Given the description of an element on the screen output the (x, y) to click on. 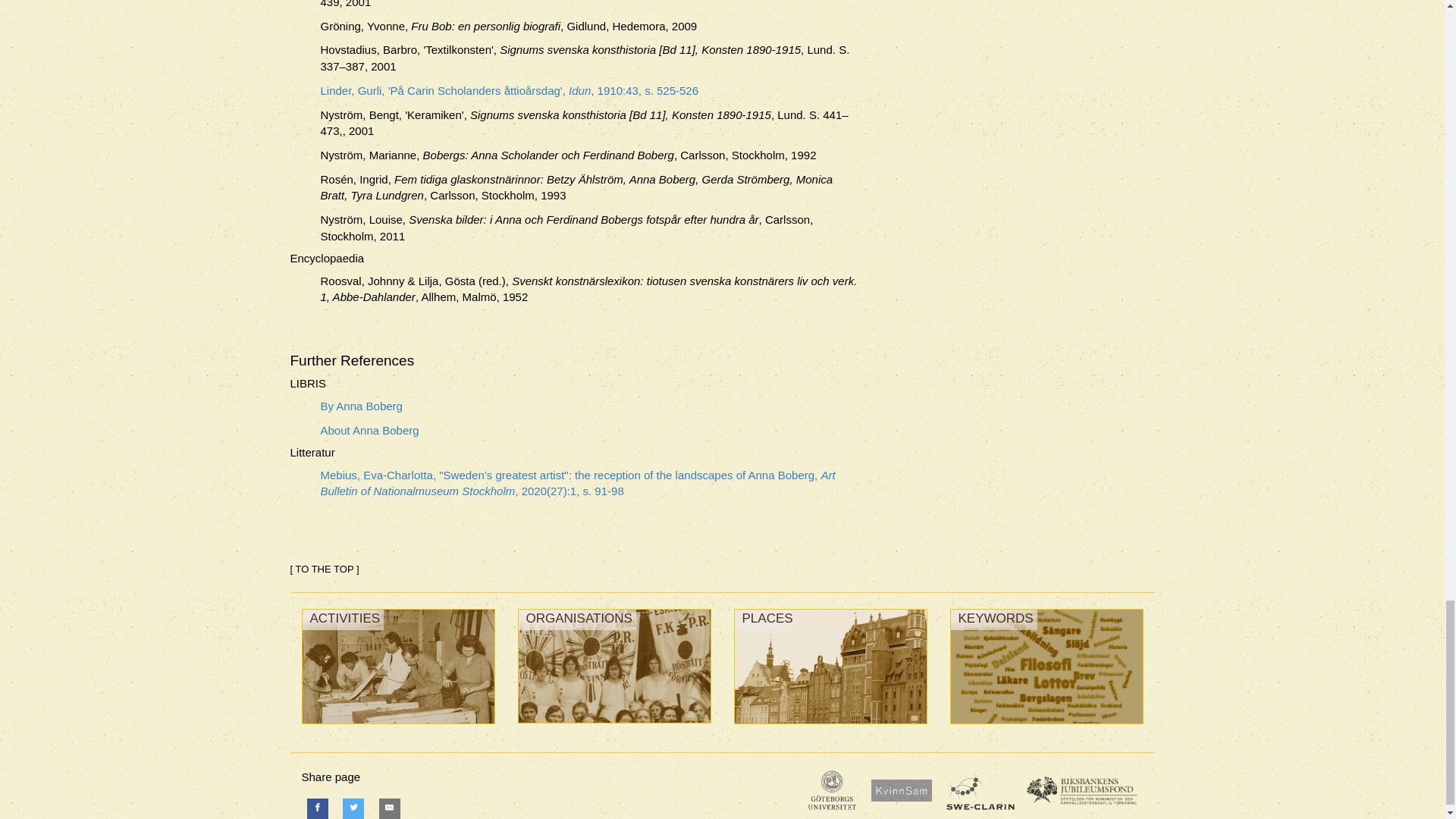
PLACES (830, 727)
ORGANISATIONS (613, 726)
ACTIVITIES (398, 727)
By Anna Boberg (589, 406)
About Anna Boberg (589, 430)
KEYWORDS (1045, 727)
